Given the description of an element on the screen output the (x, y) to click on. 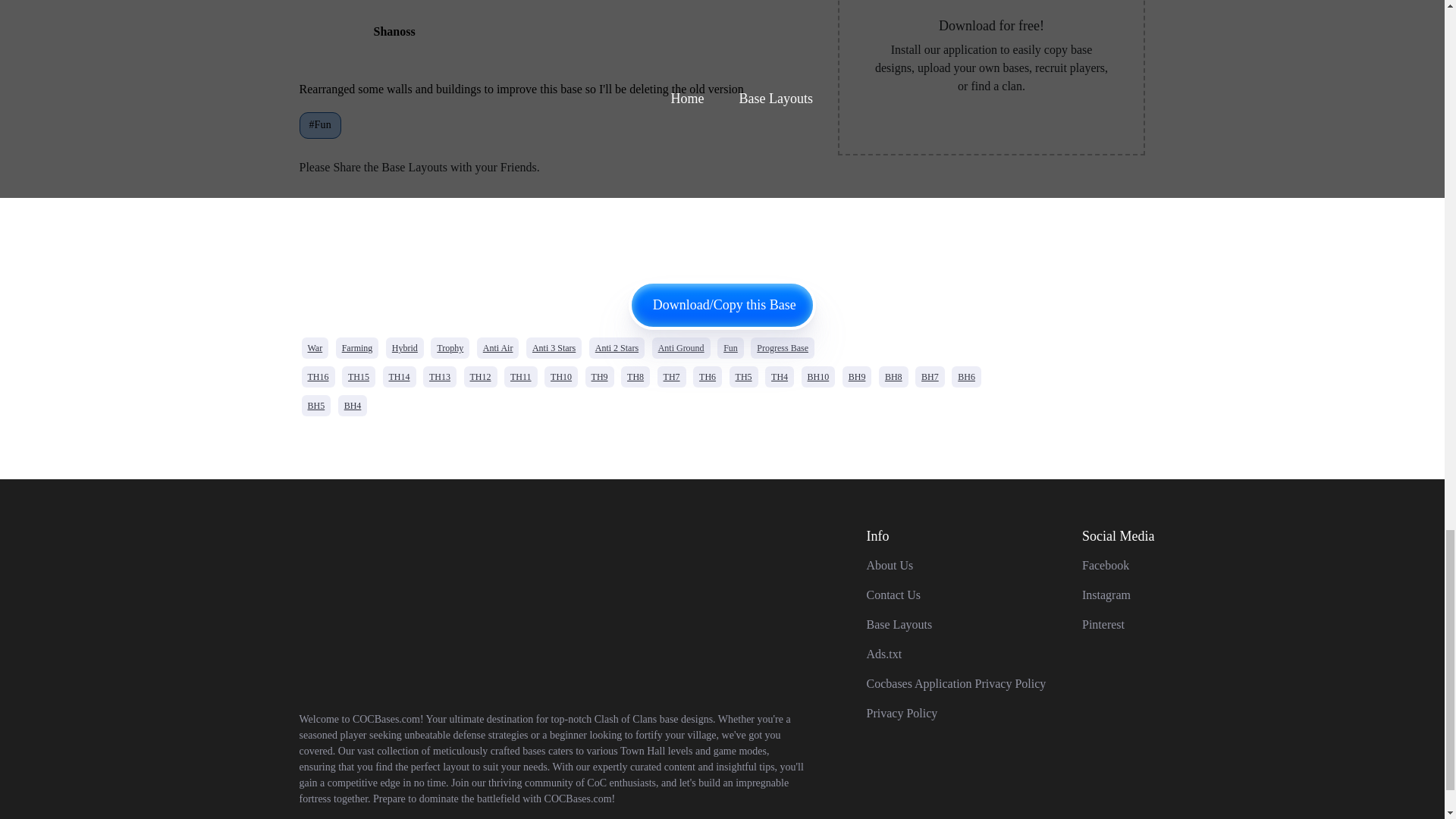
Anti Air (498, 347)
Anti 3 Stars (552, 347)
TH12 (480, 376)
Anti Ground (681, 347)
Farming (357, 347)
TH14 (397, 376)
Anti 2 Stars (617, 347)
TH10 (561, 376)
TH15 (358, 376)
TH16 (317, 376)
